Given the description of an element on the screen output the (x, y) to click on. 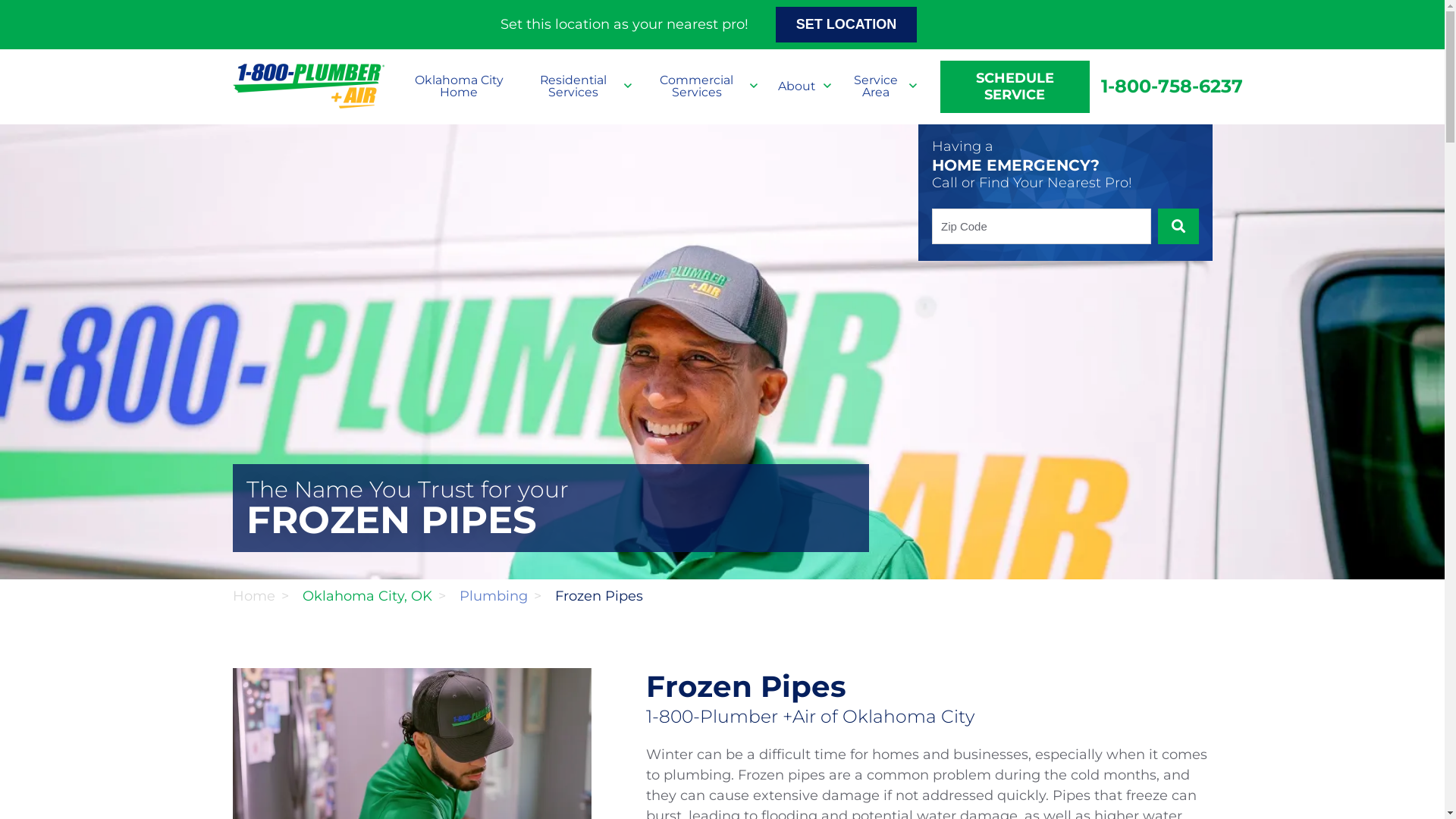
SUBMIT Element type: text (1177, 226)
About Element type: text (802, 86)
Home Element type: text (253, 595)
Residential Services Element type: text (579, 86)
Oklahoma City, OK Element type: text (366, 595)
Oklahoma City Home Element type: text (458, 86)
Commercial Services Element type: text (702, 86)
1-800-758-6237 Element type: text (1165, 86)
Service Area Element type: text (881, 86)
Plumbing Element type: text (493, 595)
SCHEDULE SERVICE Element type: text (1014, 86)
Frozen Pipes Element type: text (599, 595)
SET LOCATION Element type: text (846, 24)
